Given the description of an element on the screen output the (x, y) to click on. 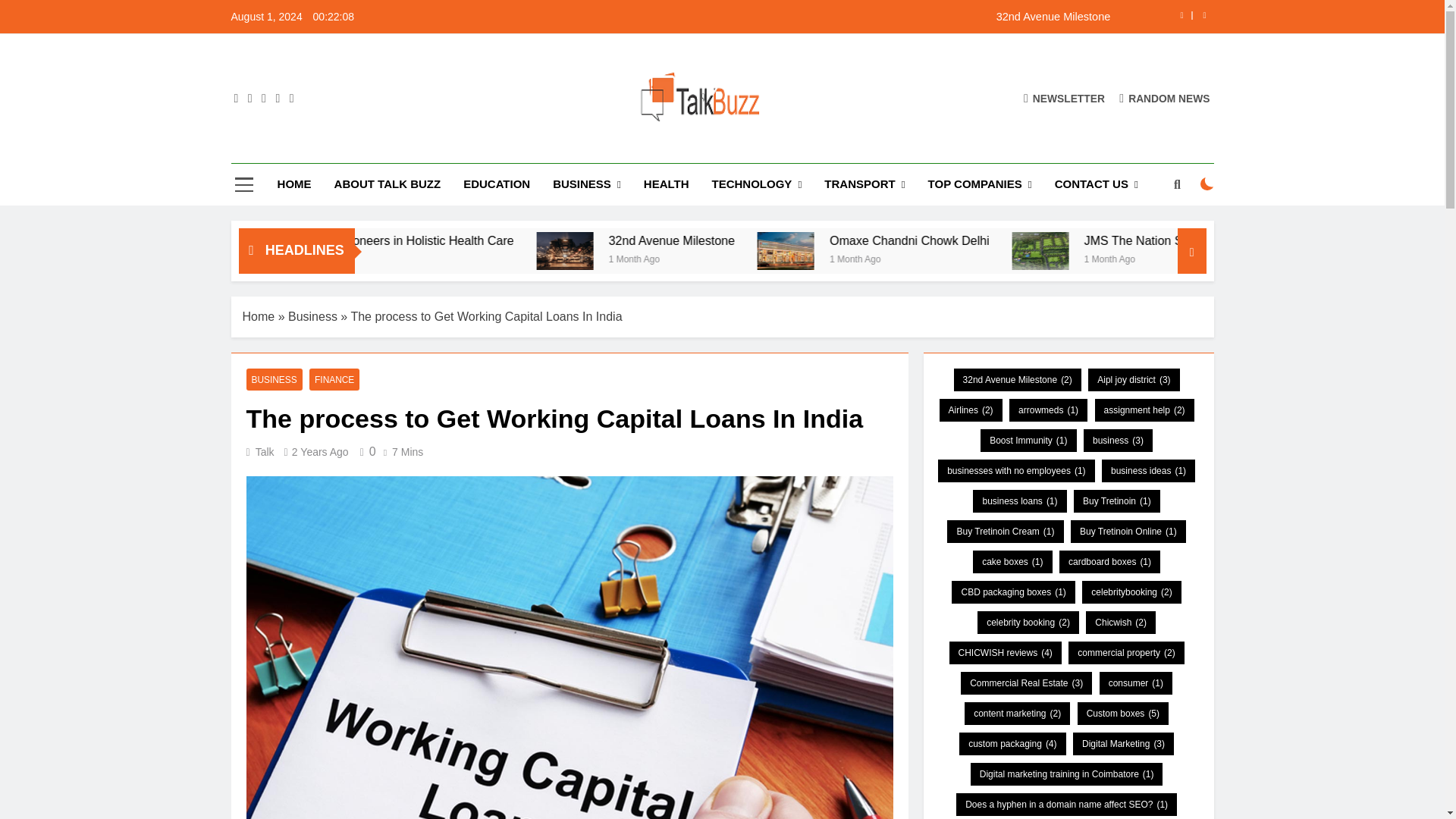
EDUCATION (496, 183)
32nd Avenue Milestone (817, 16)
HOME (294, 183)
Talk Buzz (503, 149)
32nd Avenue Milestone (817, 16)
on (1206, 183)
NEWSLETTER (1064, 97)
BUSINESS (586, 184)
RANDOM NEWS (1164, 97)
ABOUT TALK BUZZ (387, 183)
